Given the description of an element on the screen output the (x, y) to click on. 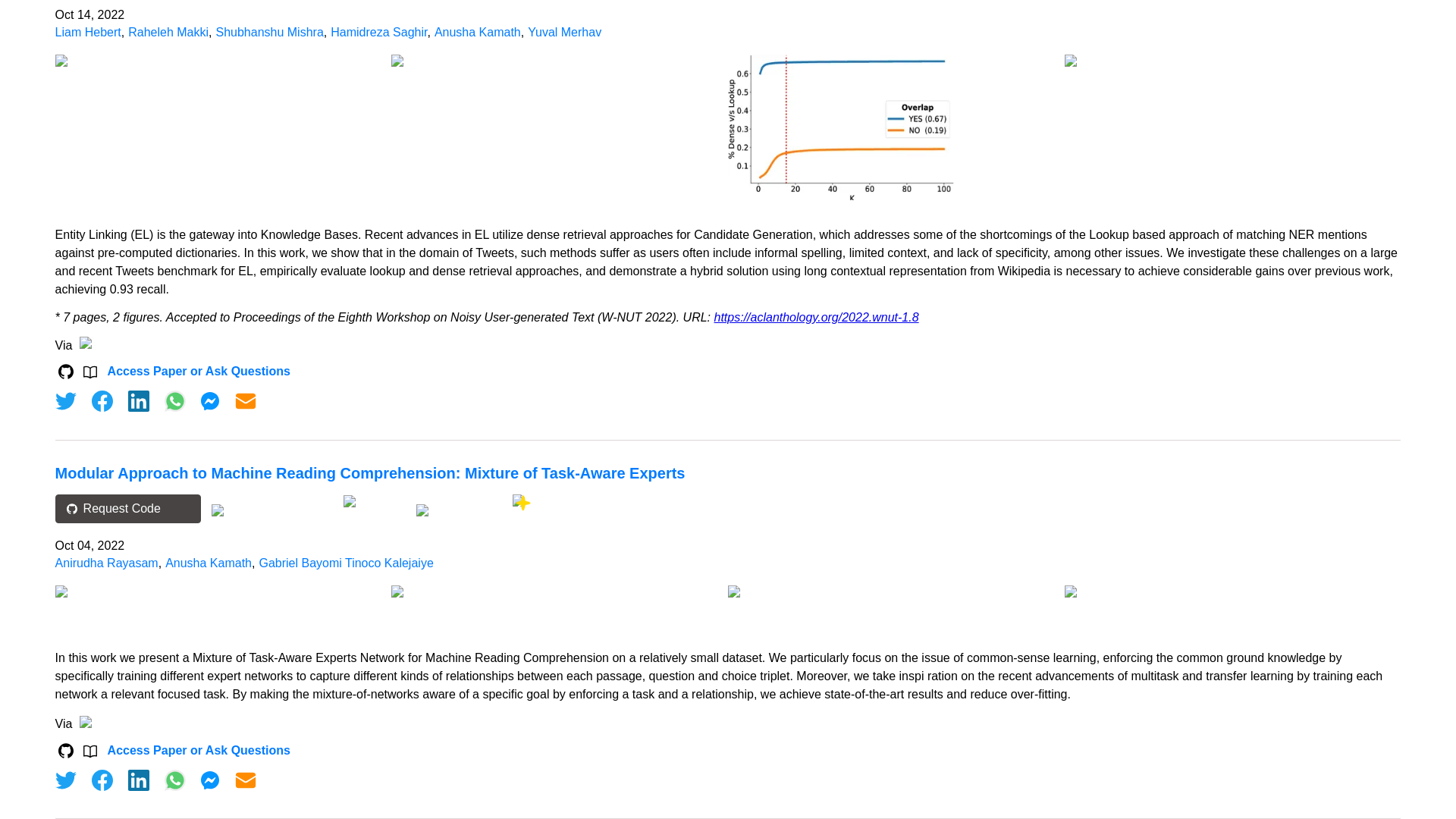
Raheleh Makki (168, 31)
Share via Email (245, 400)
Liam Hebert (87, 31)
Shubhanshu Mishra (269, 31)
View code for similar papers (270, 510)
Anusha Kamath (477, 31)
Share via Email (245, 780)
Bookmark this paper (459, 508)
Contribute your code for this paper to the community (375, 501)
Hamidreza Saghir (378, 31)
